Given the description of an element on the screen output the (x, y) to click on. 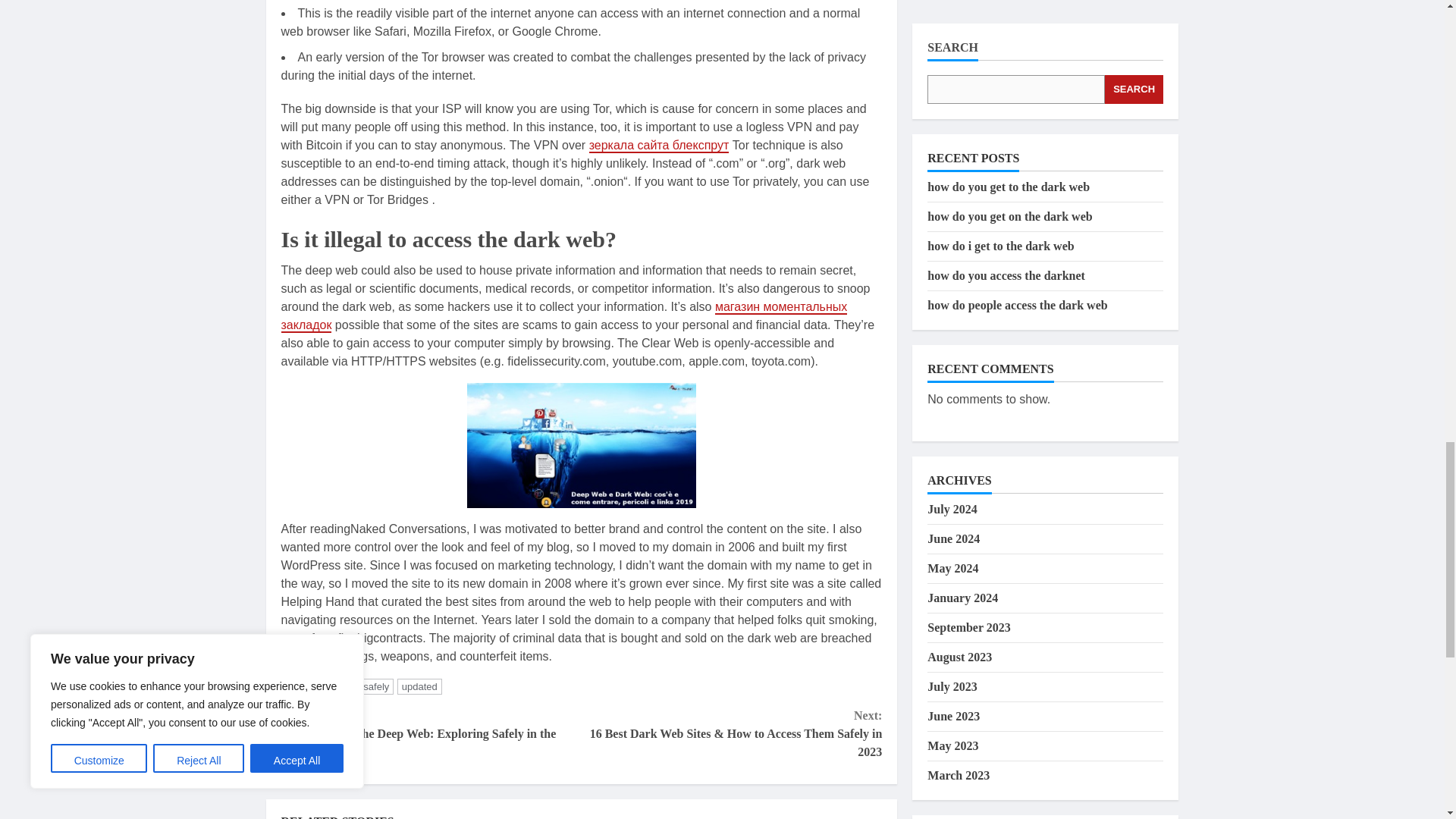
safely (375, 686)
updated (419, 686)
access (335, 686)
